Given the description of an element on the screen output the (x, y) to click on. 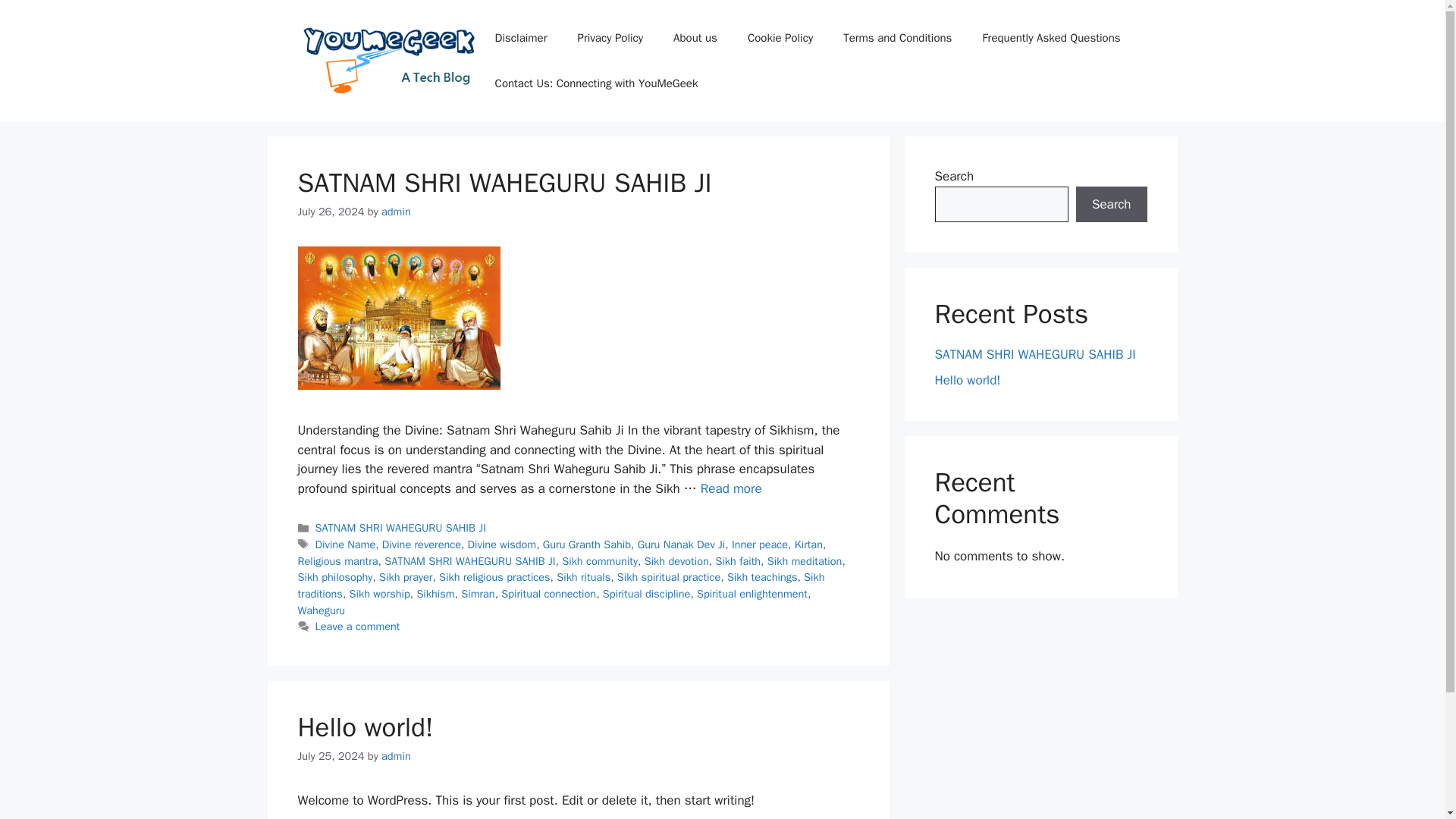
Sikh community (599, 561)
View all posts by admin (395, 755)
Sikh spiritual practice (668, 576)
Sikh worship (379, 593)
Sikh faith (737, 561)
View all posts by admin (395, 211)
Terms and Conditions (897, 37)
Contact Us: Connecting with YouMeGeek (596, 83)
Sikh prayer (405, 576)
Inner peace (759, 544)
Sikh teachings (761, 576)
Sikh rituals (583, 576)
Simran (478, 593)
Sikh religious practices (494, 576)
Kirtan (808, 544)
